Given the description of an element on the screen output the (x, y) to click on. 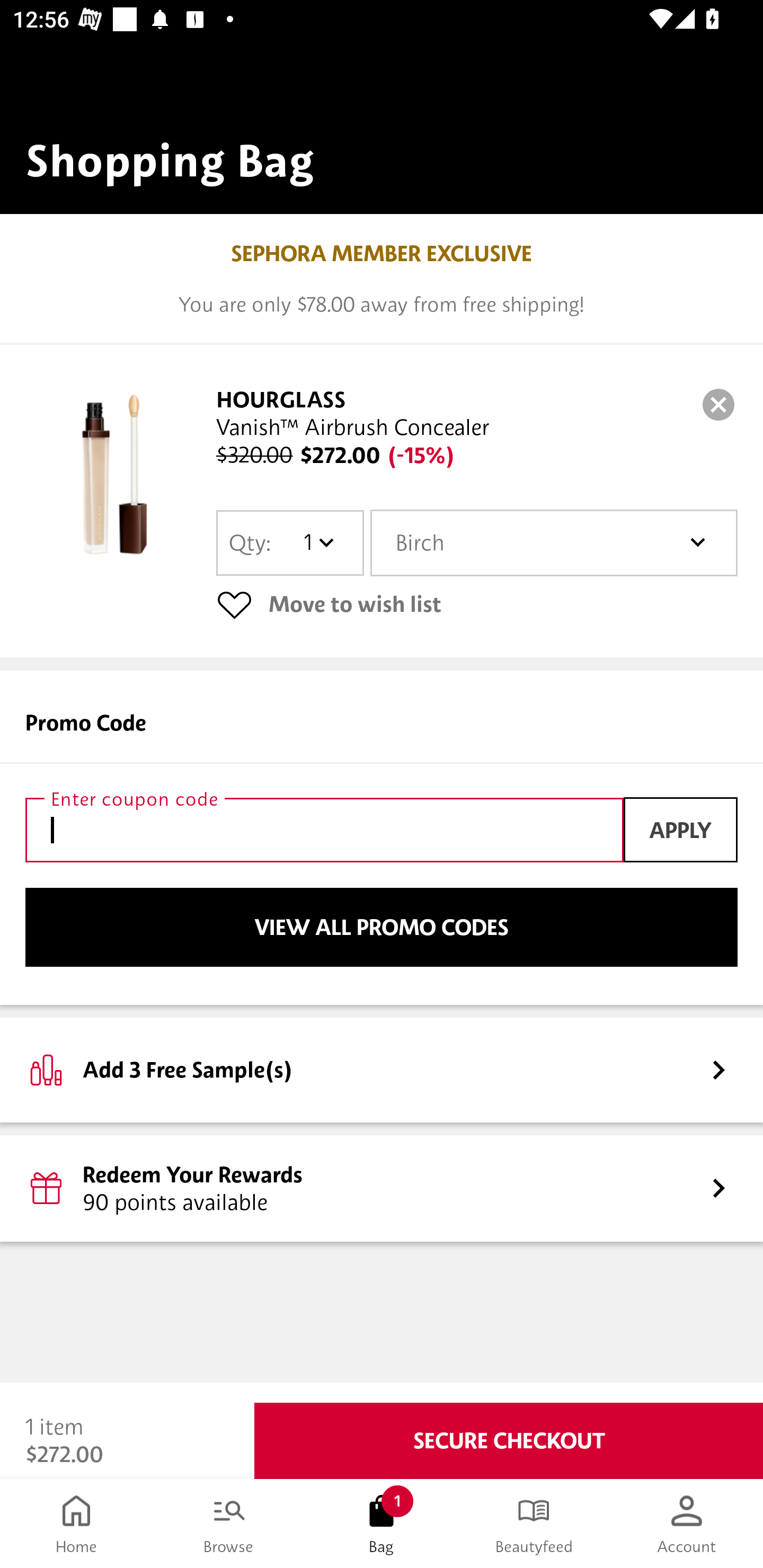
Birch (553, 542)
1 (317, 542)
Move to wish list (476, 604)
APPLY (680, 829)
Enter coupon code (324, 830)
VIEW ALL PROMO CODES (381, 927)
Add 3 Free Sample(s) (381, 1069)
Redeem Your Rewards 90 points available (381, 1188)
SECURE CHECKOUT (508, 1440)
Home (76, 1523)
Browse (228, 1523)
Beautyfeed (533, 1523)
Account (686, 1523)
